Given the description of an element on the screen output the (x, y) to click on. 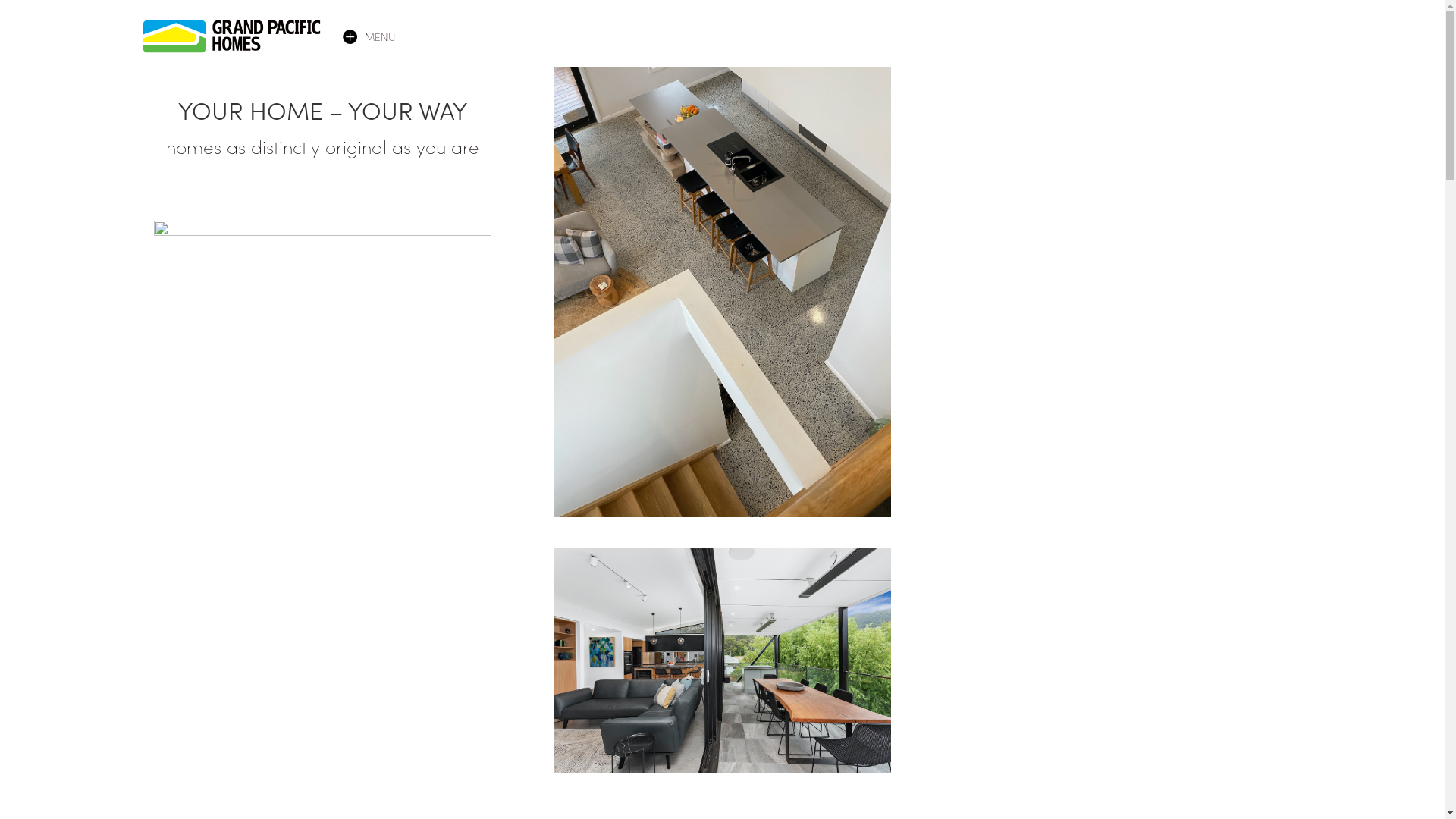
GPH - 59 Element type: hover (722, 660)
MENU Element type: text (378, 36)
GPH - 77 Element type: hover (722, 292)
